Given the description of an element on the screen output the (x, y) to click on. 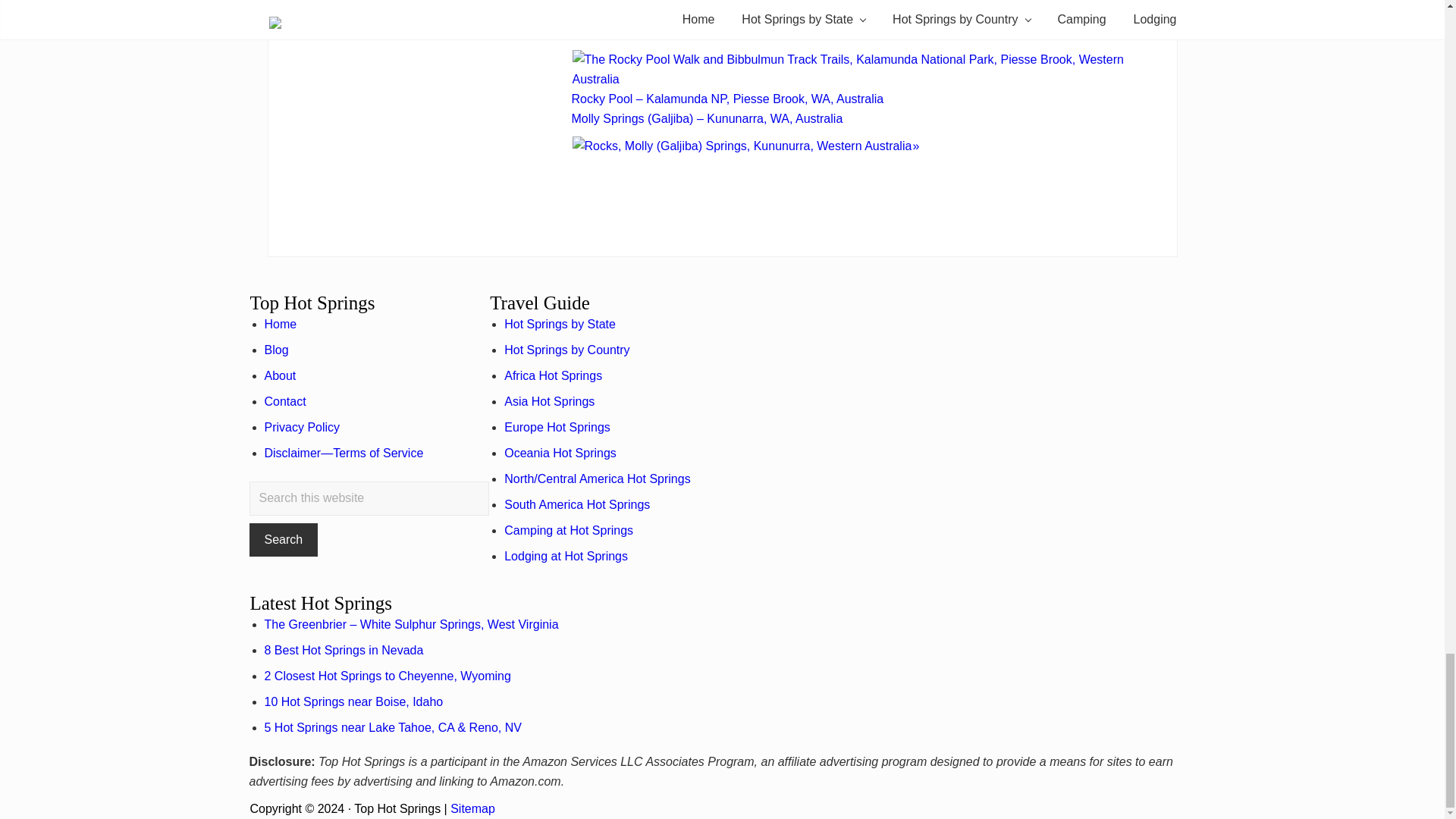
Search (282, 539)
Search (282, 539)
